Given the description of an element on the screen output the (x, y) to click on. 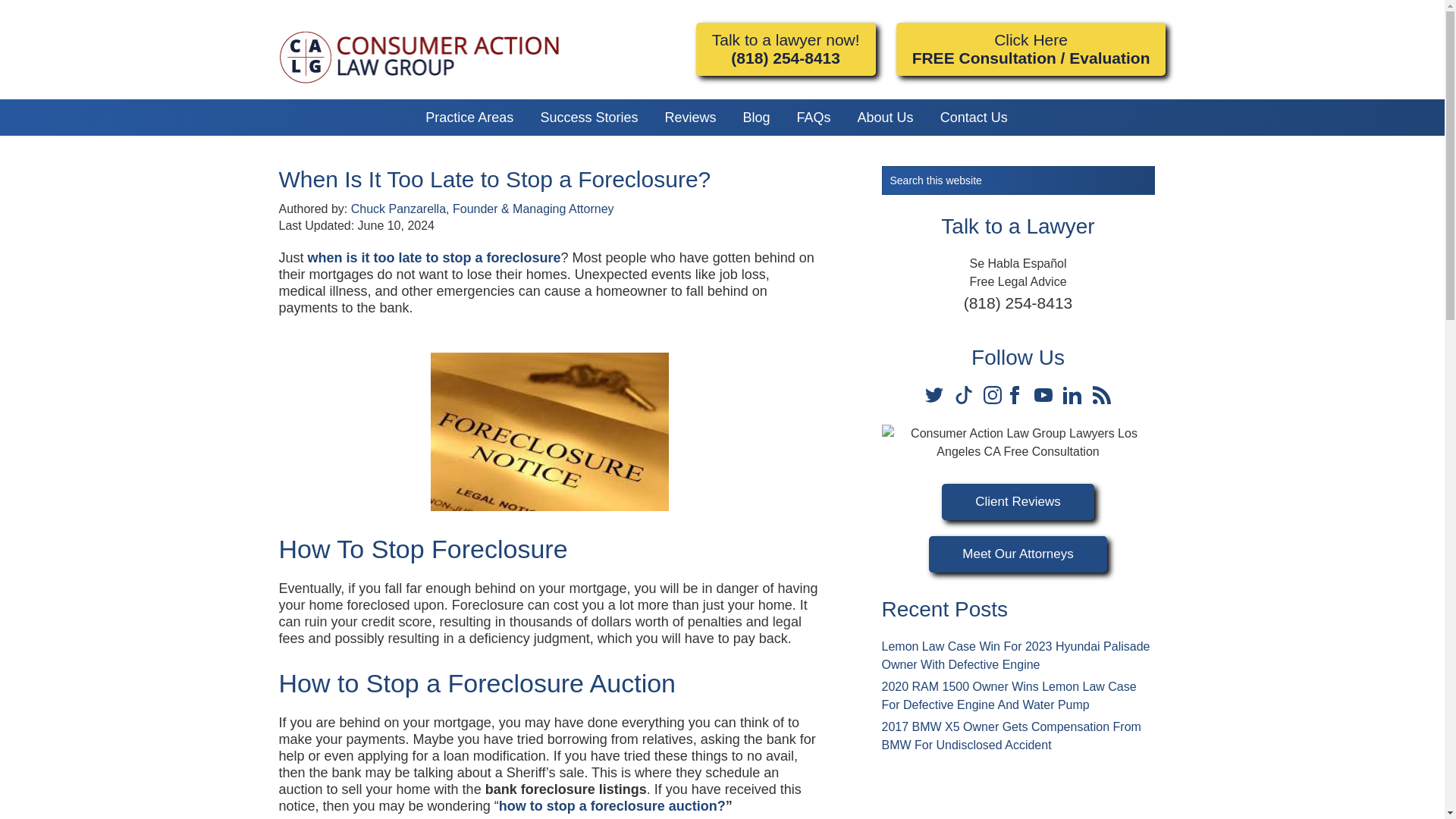
Search (1163, 172)
Search (1163, 172)
